Given the description of an element on the screen output the (x, y) to click on. 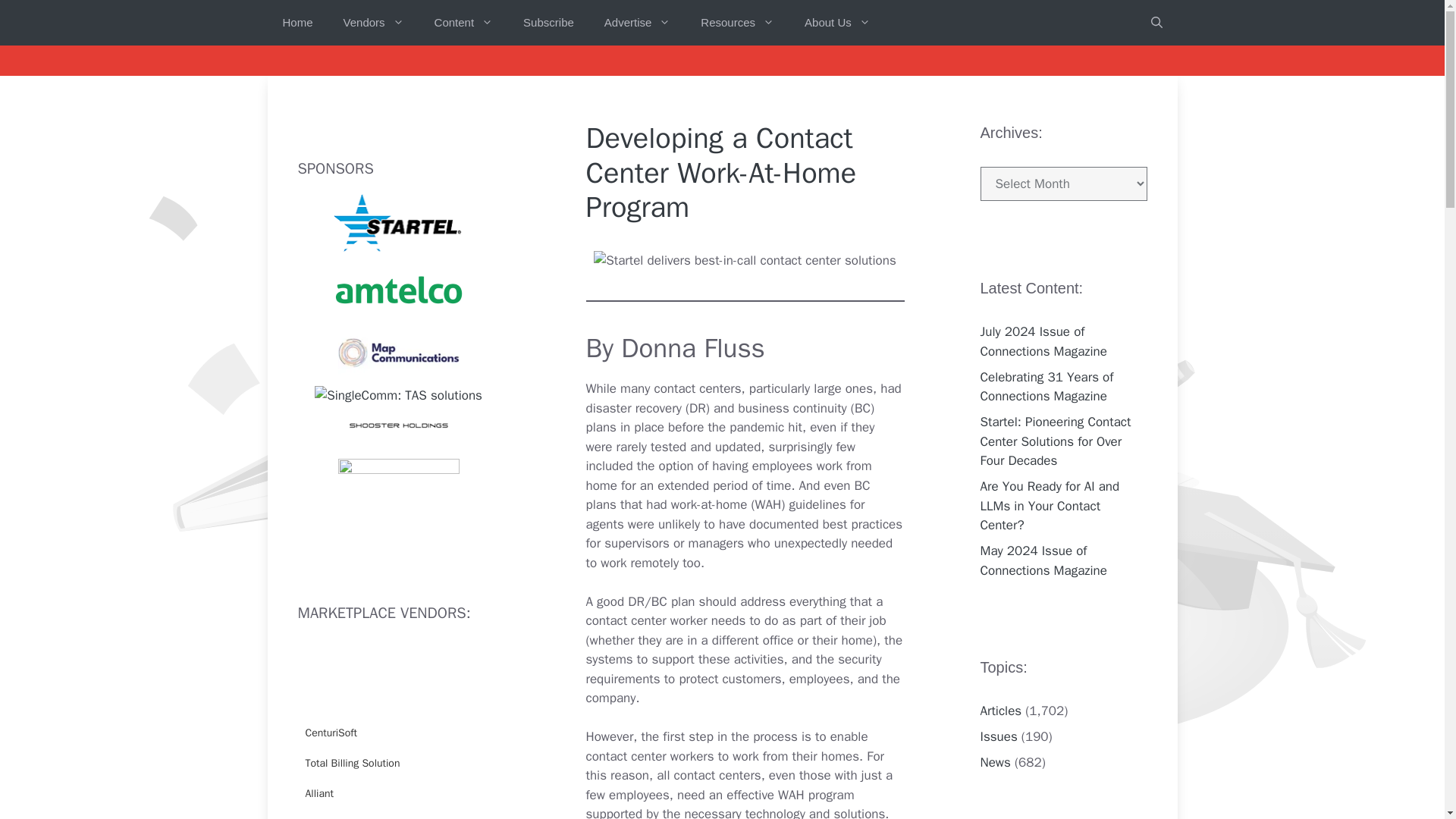
Home (296, 22)
Vendors (374, 22)
About Us (837, 22)
Resources (737, 22)
Subscribe (548, 22)
Content (463, 22)
Advertise (637, 22)
